Given the description of an element on the screen output the (x, y) to click on. 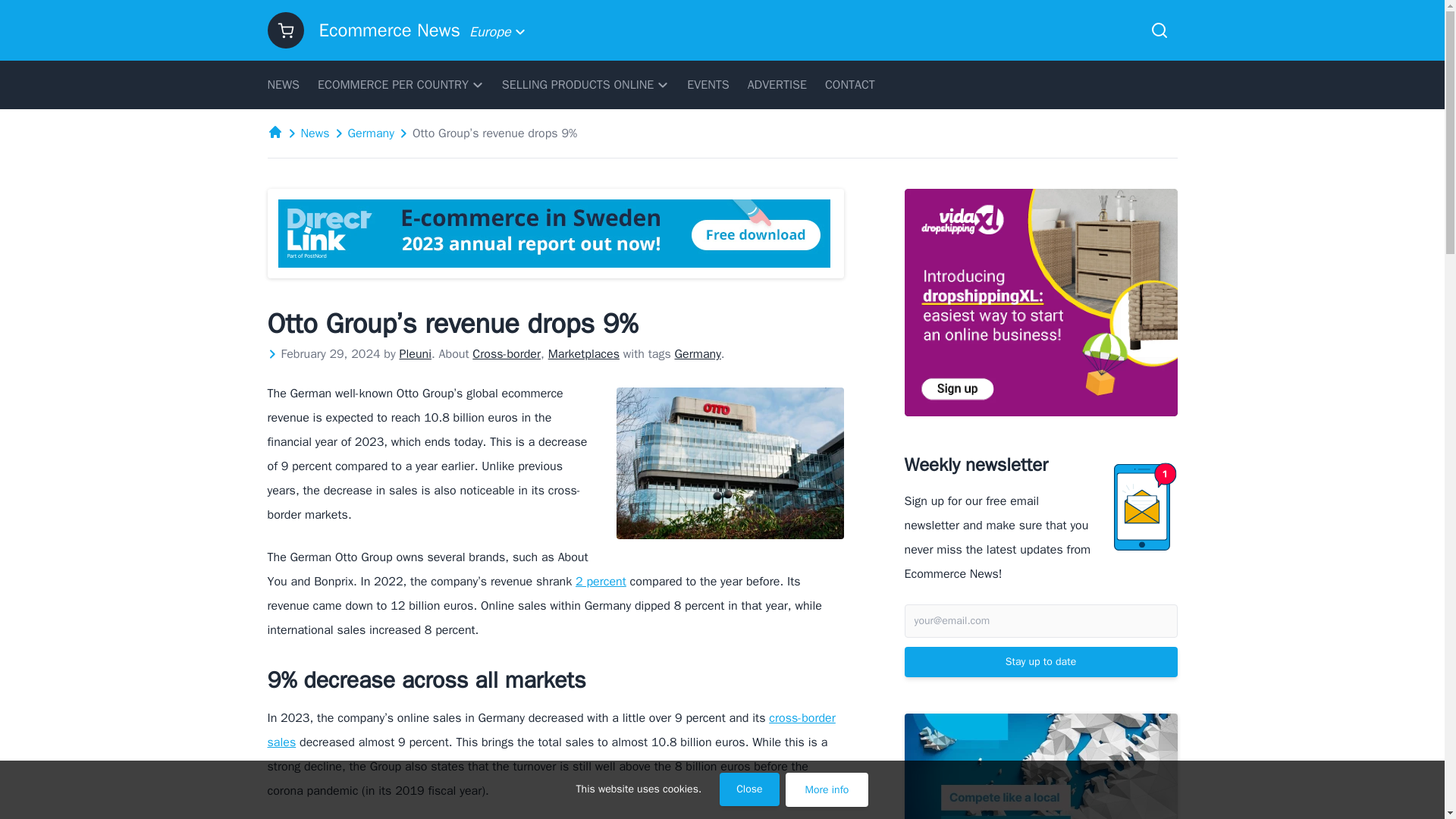
Cross-border (505, 353)
Germany (370, 133)
Marketplaces (584, 353)
Pleuni (414, 353)
News (314, 133)
CONTACT (849, 84)
Ecommerce News (389, 30)
SELLING PRODUCTS ONLINE (585, 84)
ECOMMERCE PER COUNTRY (400, 84)
cross-border sales (550, 730)
